Given the description of an element on the screen output the (x, y) to click on. 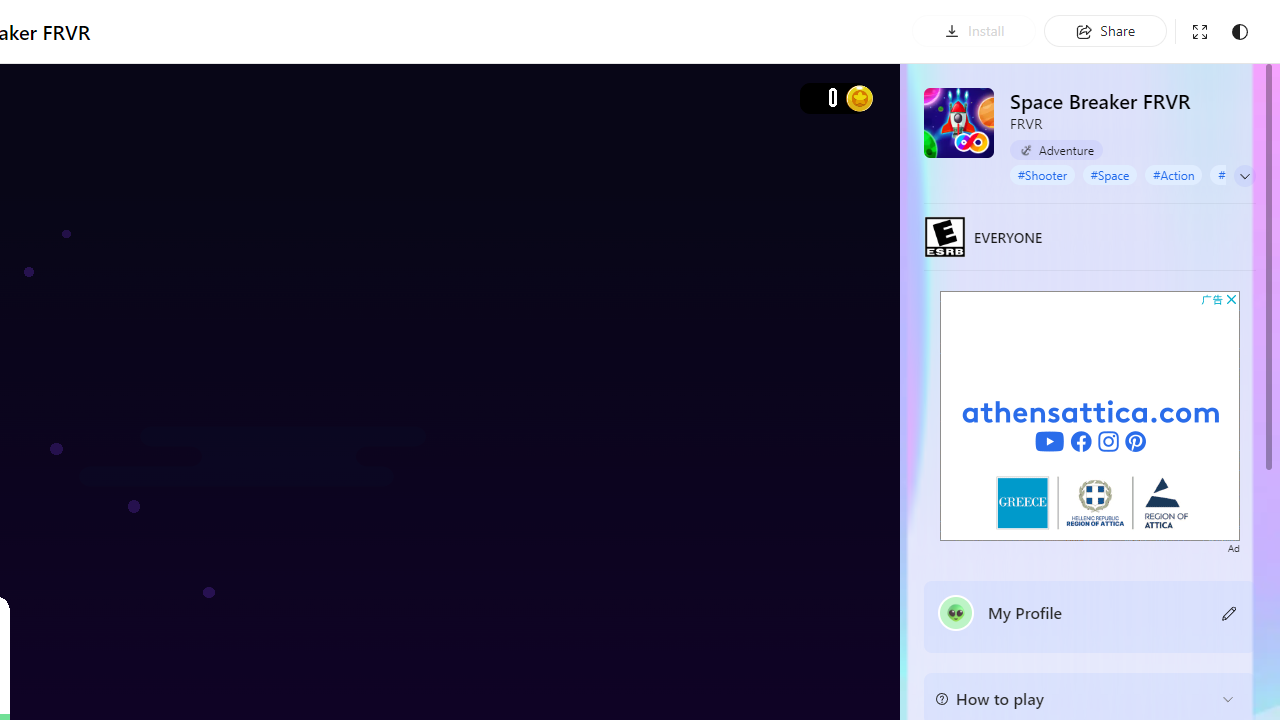
AutomationID: cbb (1231, 299)
Adventure (1056, 149)
How to play (1073, 698)
Share (1104, 30)
Change to dark mode (1239, 31)
Class: expand-arrow neutral (1244, 175)
#Space (1109, 174)
Tabs you've opened (276, 265)
Advertisement (1089, 415)
EVERYONE (945, 236)
Install (974, 30)
Adventure (1056, 150)
Advertisement (1089, 415)
